Given the description of an element on the screen output the (x, y) to click on. 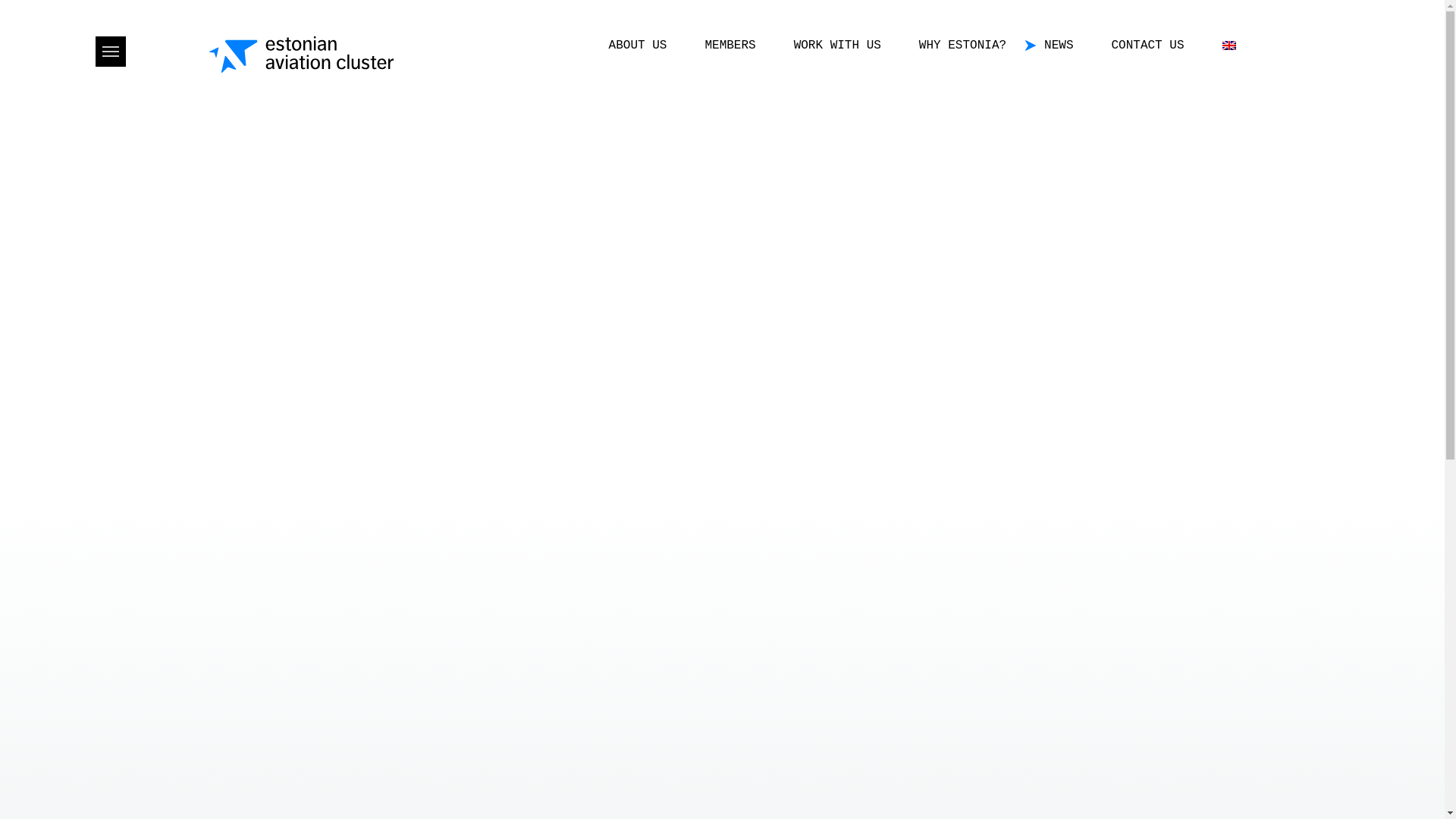
WHY ESTONIA? (962, 45)
WORK WITH US (836, 45)
CONTACT US (1147, 45)
ABOUT US (637, 45)
MEMBERS (729, 45)
NEWS (1058, 45)
